Given the description of an element on the screen output the (x, y) to click on. 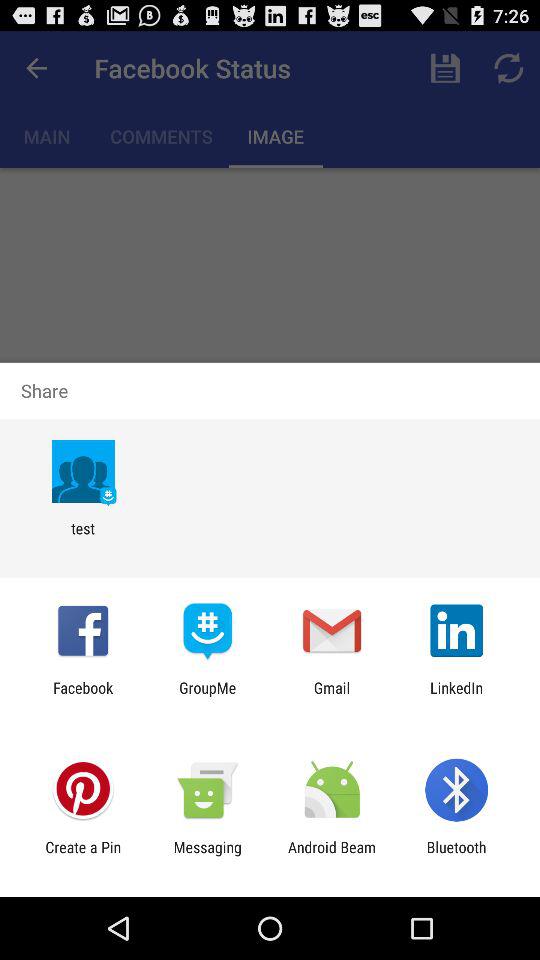
click the messaging (207, 856)
